Given the description of an element on the screen output the (x, y) to click on. 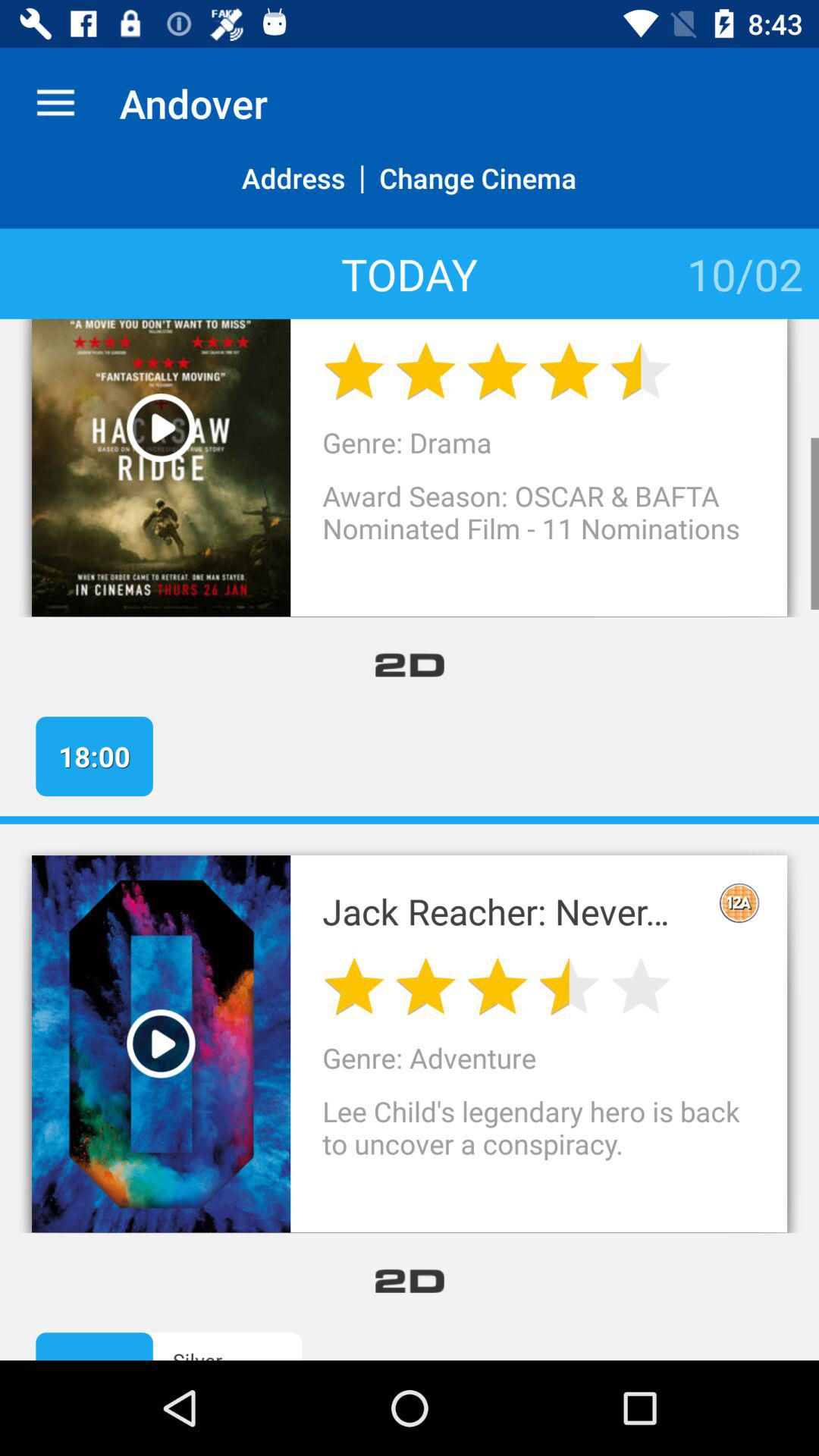
press item above today icon (293, 193)
